Given the description of an element on the screen output the (x, y) to click on. 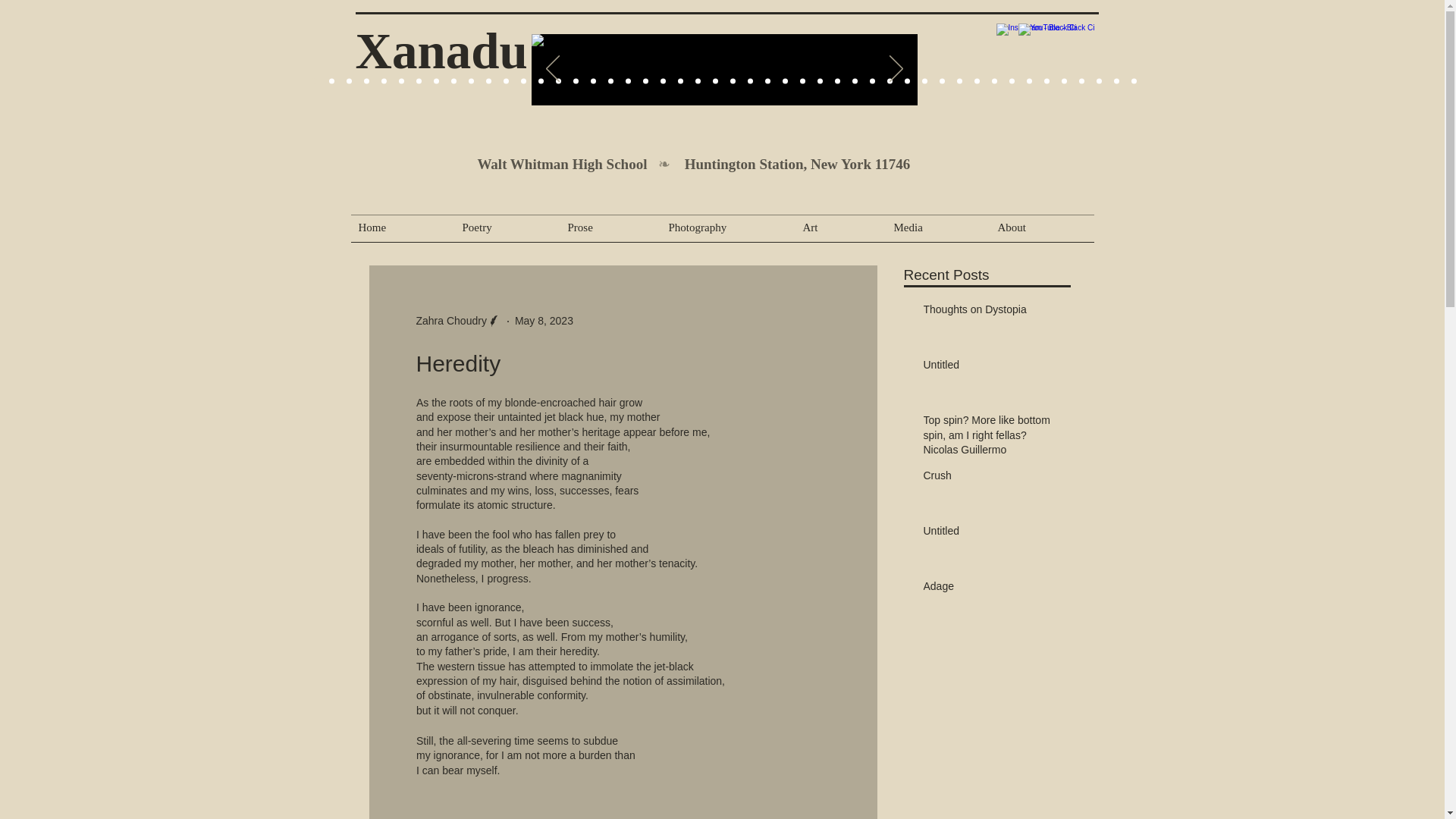
Zahra Choudry (450, 320)
Xanadu (441, 50)
May 8, 2023 (544, 320)
